Given the description of an element on the screen output the (x, y) to click on. 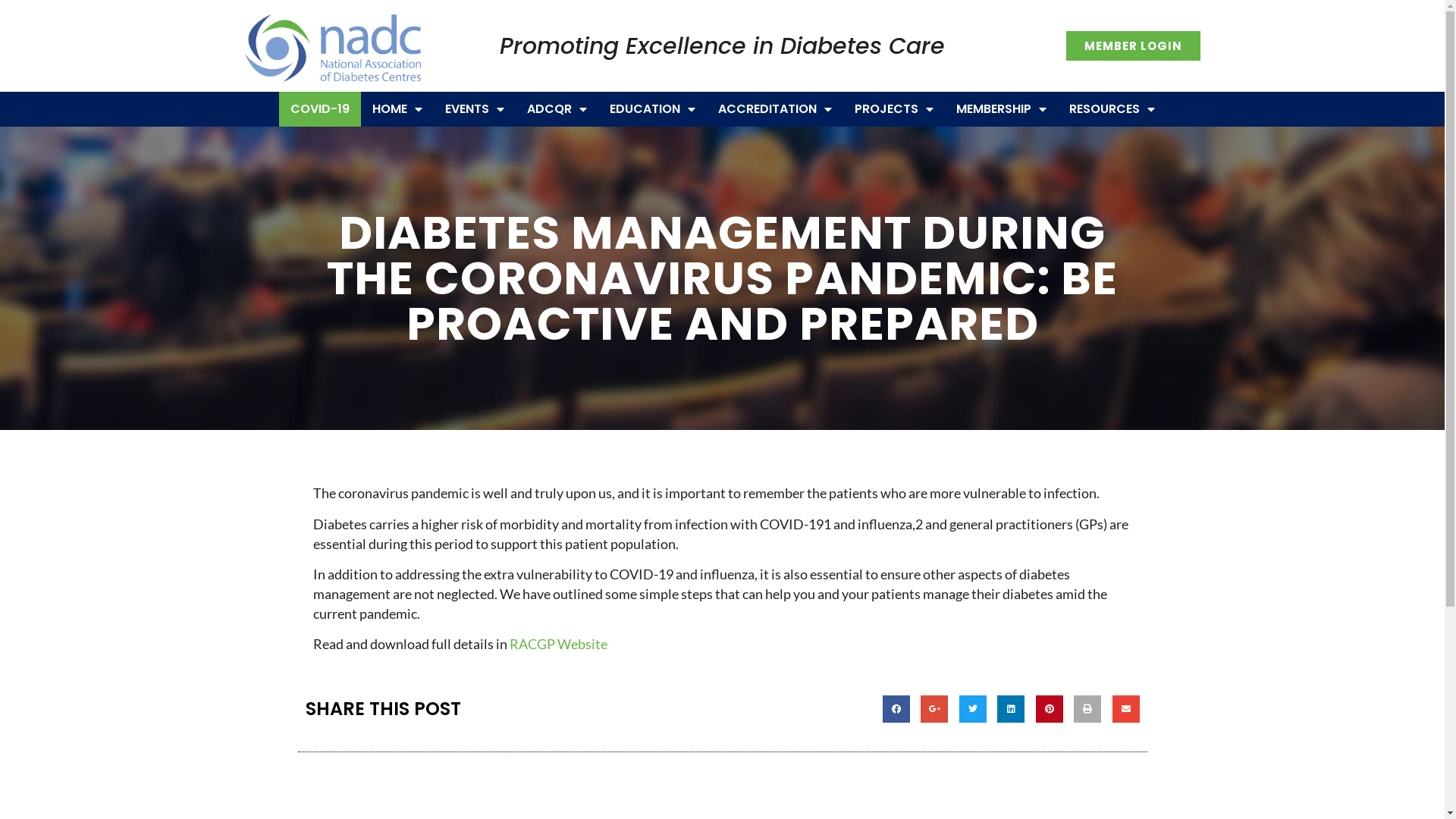
RACGP Website Element type: text (558, 643)
HOME Element type: text (396, 108)
MEMBER LOGIN Element type: text (1133, 45)
MEMBERSHIP Element type: text (1000, 108)
PROJECTS Element type: text (893, 108)
ADCQR Element type: text (556, 108)
EDUCATION Element type: text (651, 108)
EVENTS Element type: text (474, 108)
ACCREDITATION Element type: text (774, 108)
RESOURCES Element type: text (1111, 108)
COVID-19 Element type: text (319, 108)
